Given the description of an element on the screen output the (x, y) to click on. 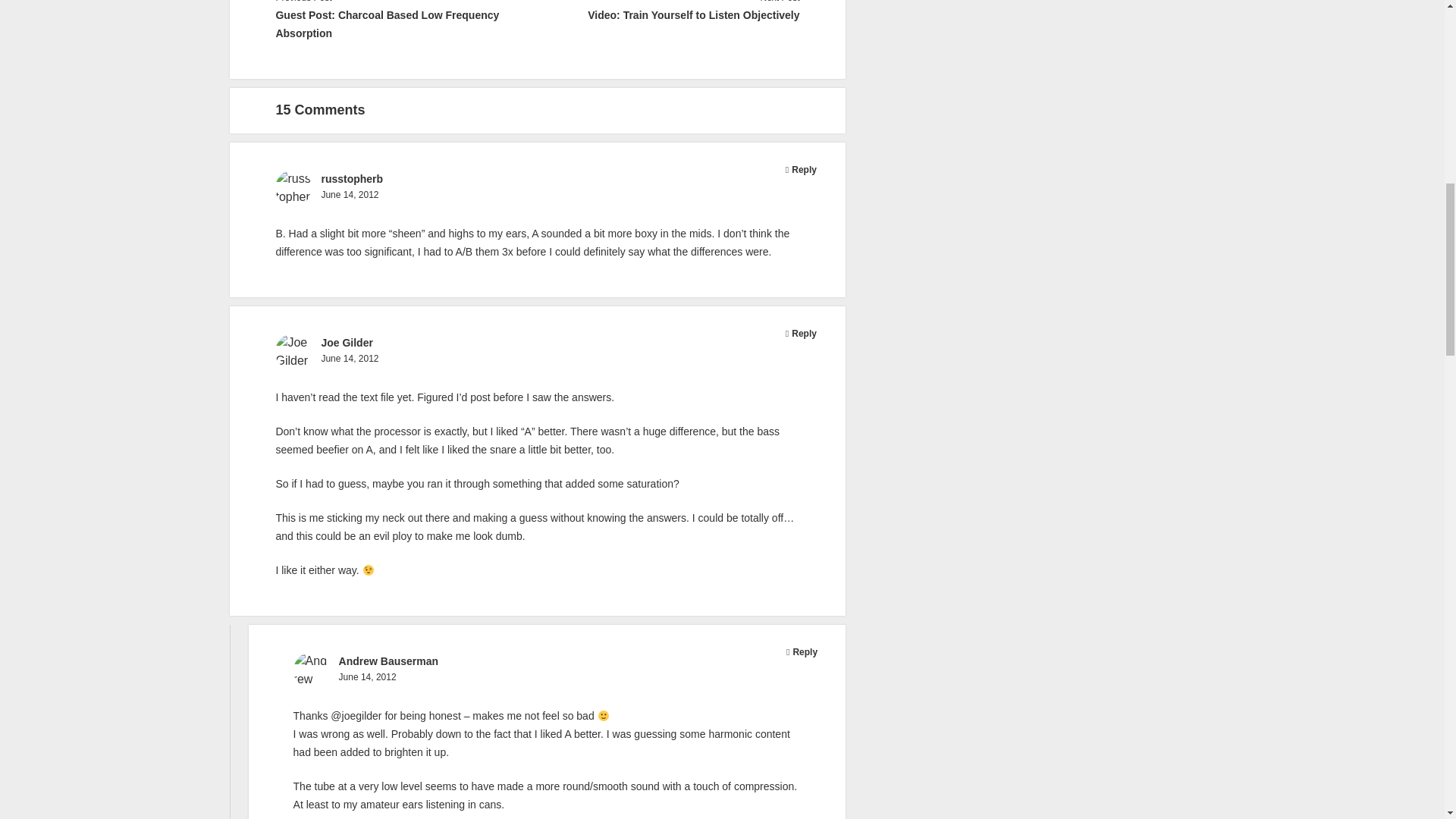
Reply (804, 652)
Guest Post: Charcoal Based Low Frequency Absorption (406, 23)
Joe Gilder (346, 342)
Reply (804, 333)
Video: Train Yourself to Listen Objectively (668, 14)
russtopherb (351, 178)
Reply (804, 169)
